Given the description of an element on the screen output the (x, y) to click on. 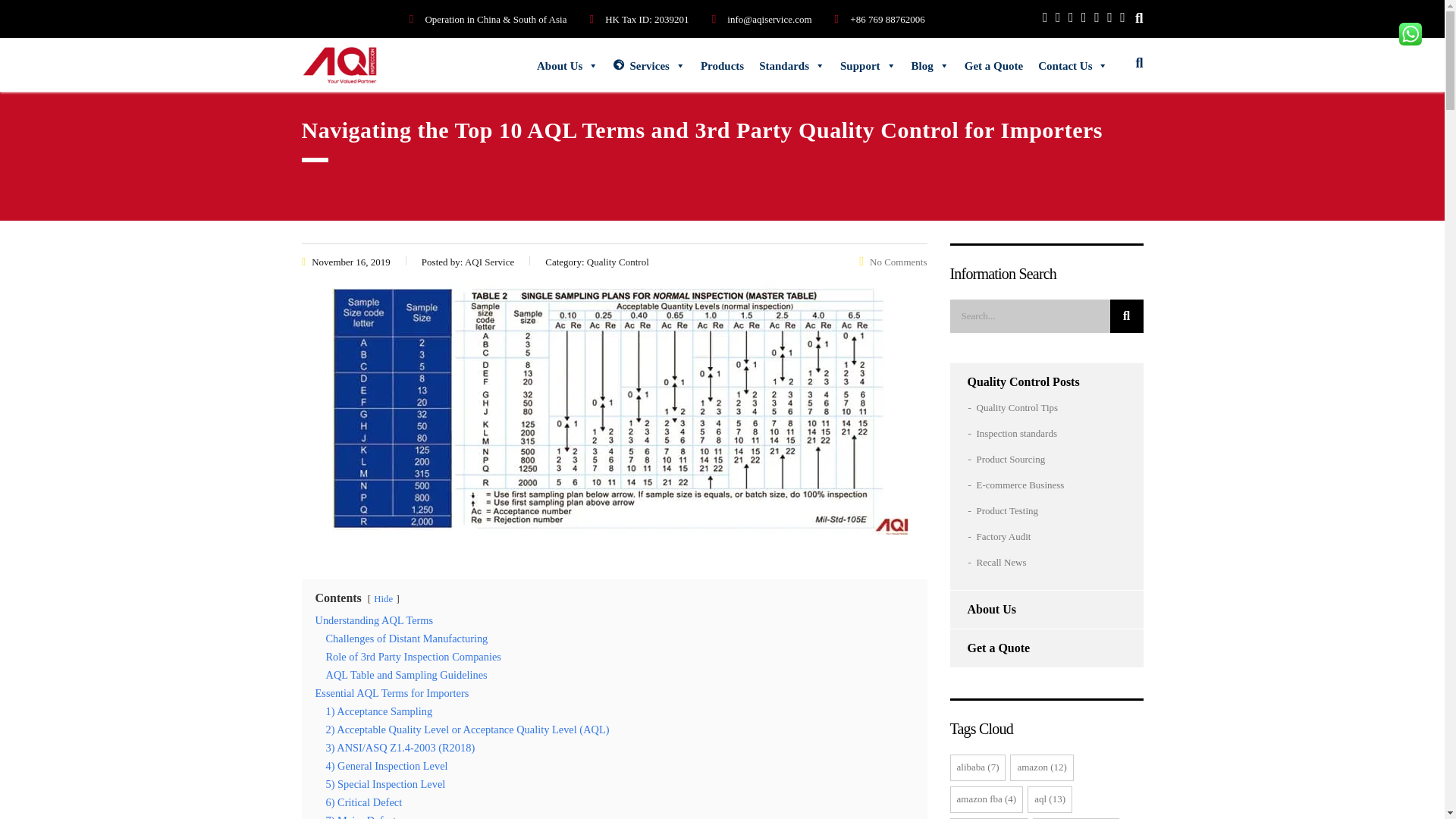
Services (649, 65)
About Us (567, 65)
